Given the description of an element on the screen output the (x, y) to click on. 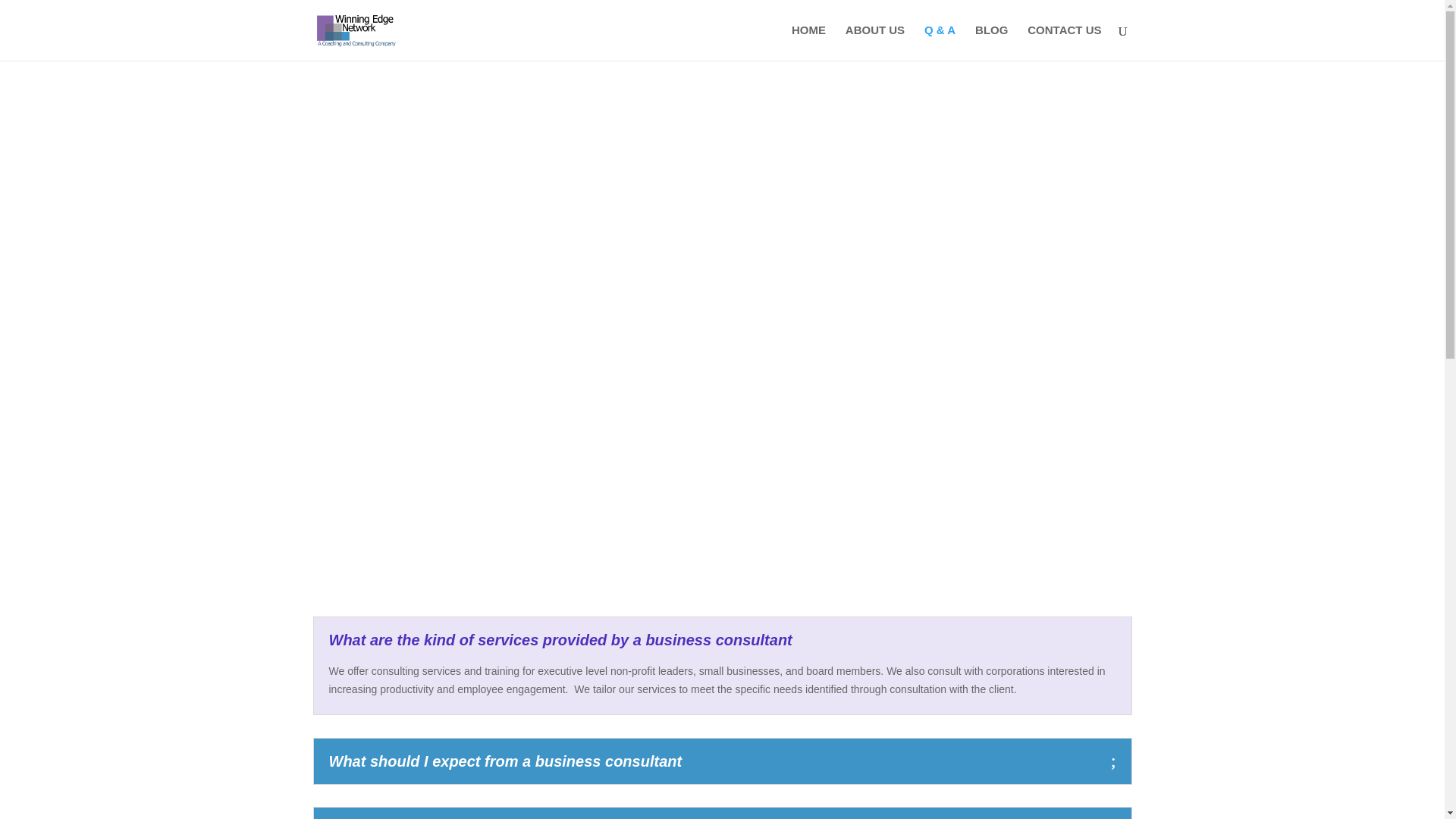
HOME (808, 42)
BLOG (991, 42)
ABOUT US (874, 42)
CONTACT US (1063, 42)
